Given the description of an element on the screen output the (x, y) to click on. 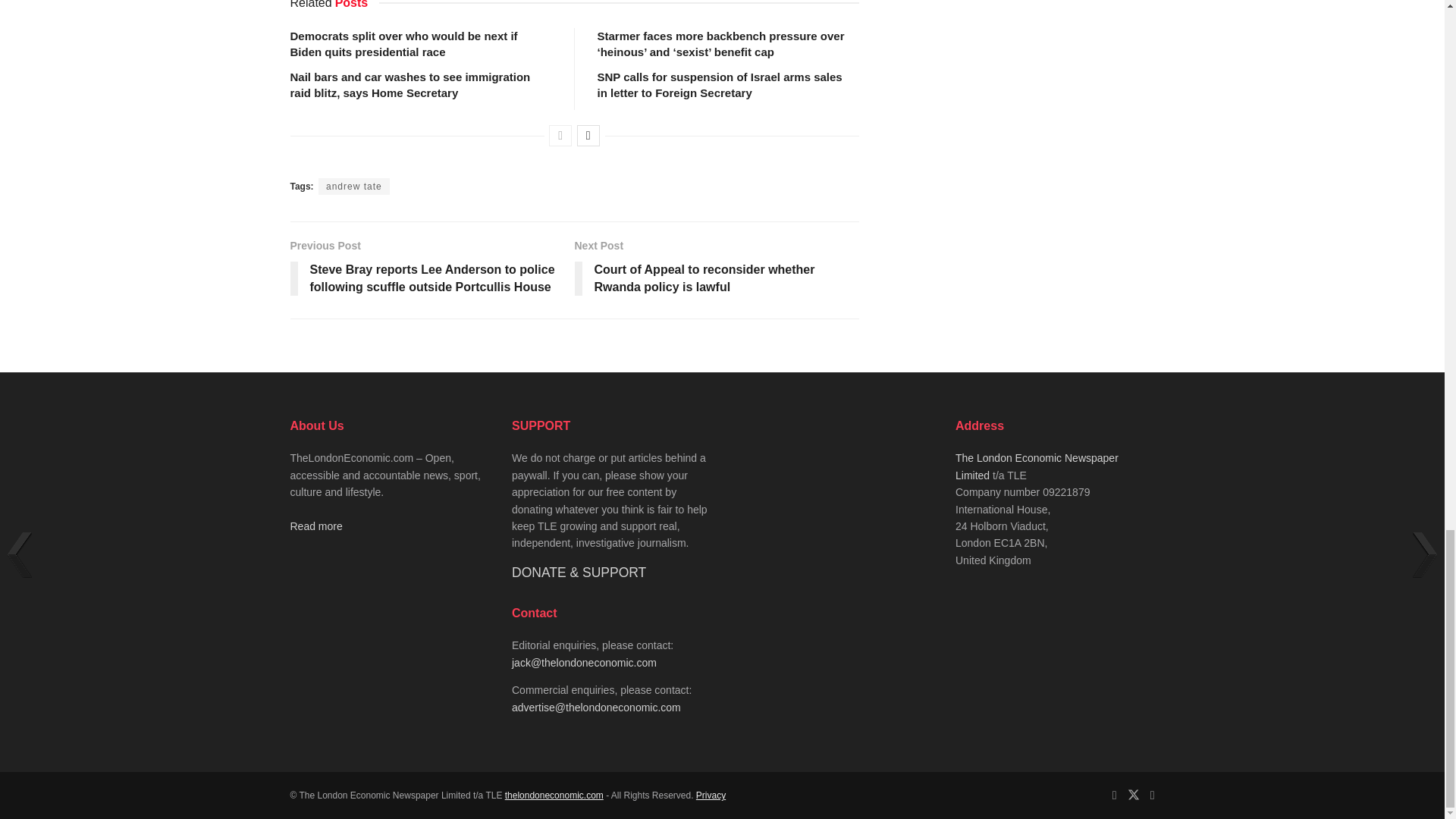
Previous (560, 135)
The London Economic (554, 795)
Privacy (710, 795)
Next (587, 135)
